Given the description of an element on the screen output the (x, y) to click on. 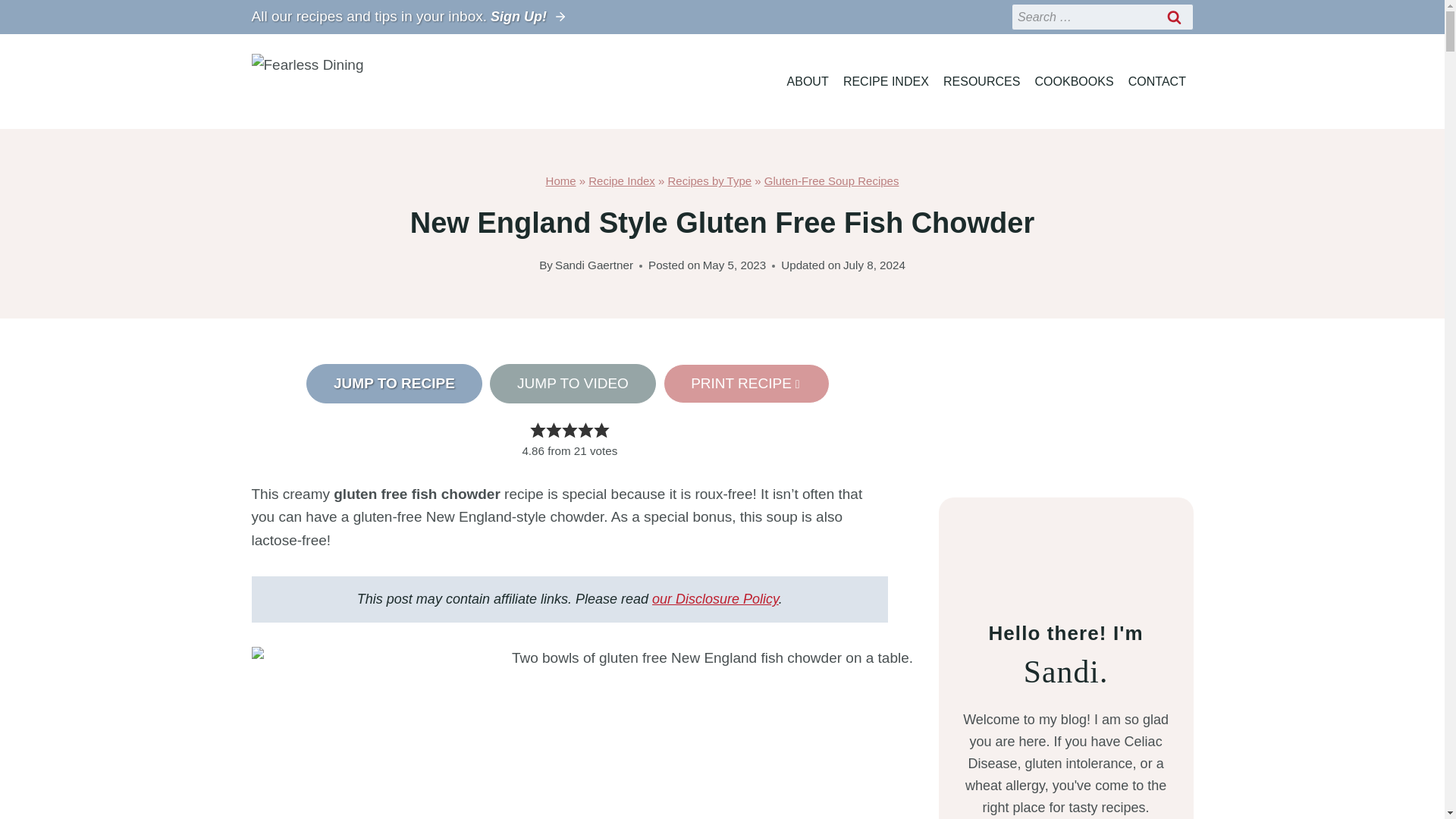
Search (1174, 16)
Search (1174, 16)
our Disclosure Policy (715, 598)
RESOURCES (981, 81)
PRINT RECIPE (745, 383)
Home (561, 180)
JUMP TO RECIPE (393, 383)
RECIPE INDEX (885, 81)
ABOUT (806, 81)
Sign Up! (528, 16)
